Given the description of an element on the screen output the (x, y) to click on. 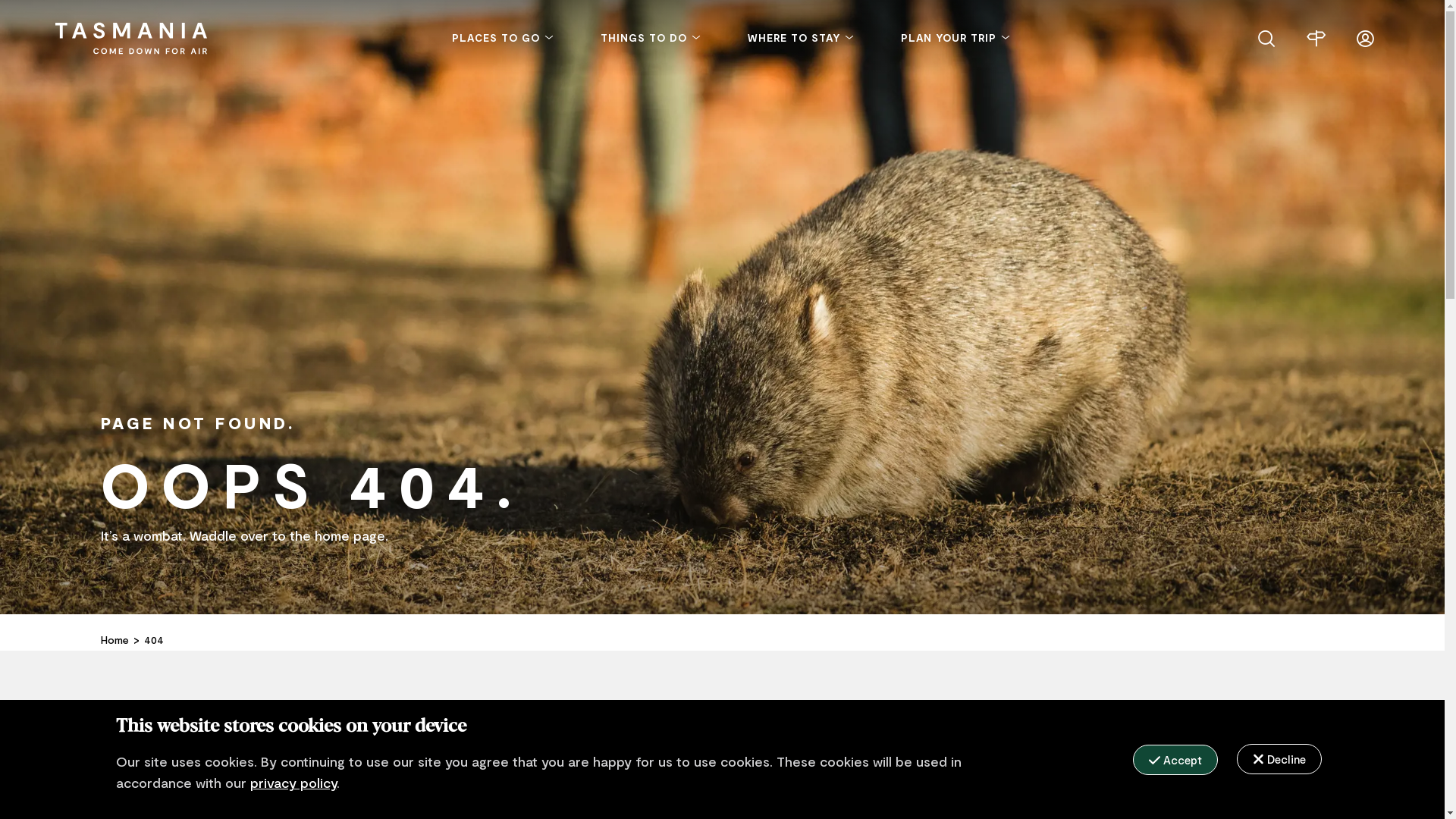
Accept Element type: text (1174, 759)
User Element type: hover (1364, 36)
PLAN YOUR TRIP Element type: text (956, 38)
privacy policy Element type: text (293, 782)
THINGS TO DO Element type: text (650, 38)
PLACES TO GO Element type: text (503, 38)
Trips Element type: hover (1314, 36)
404 Element type: text (153, 640)
WHERE TO STAY Element type: text (801, 38)
Home Element type: text (114, 640)
Decline Element type: text (1278, 758)
Search Element type: hover (1266, 36)
